Given the description of an element on the screen output the (x, y) to click on. 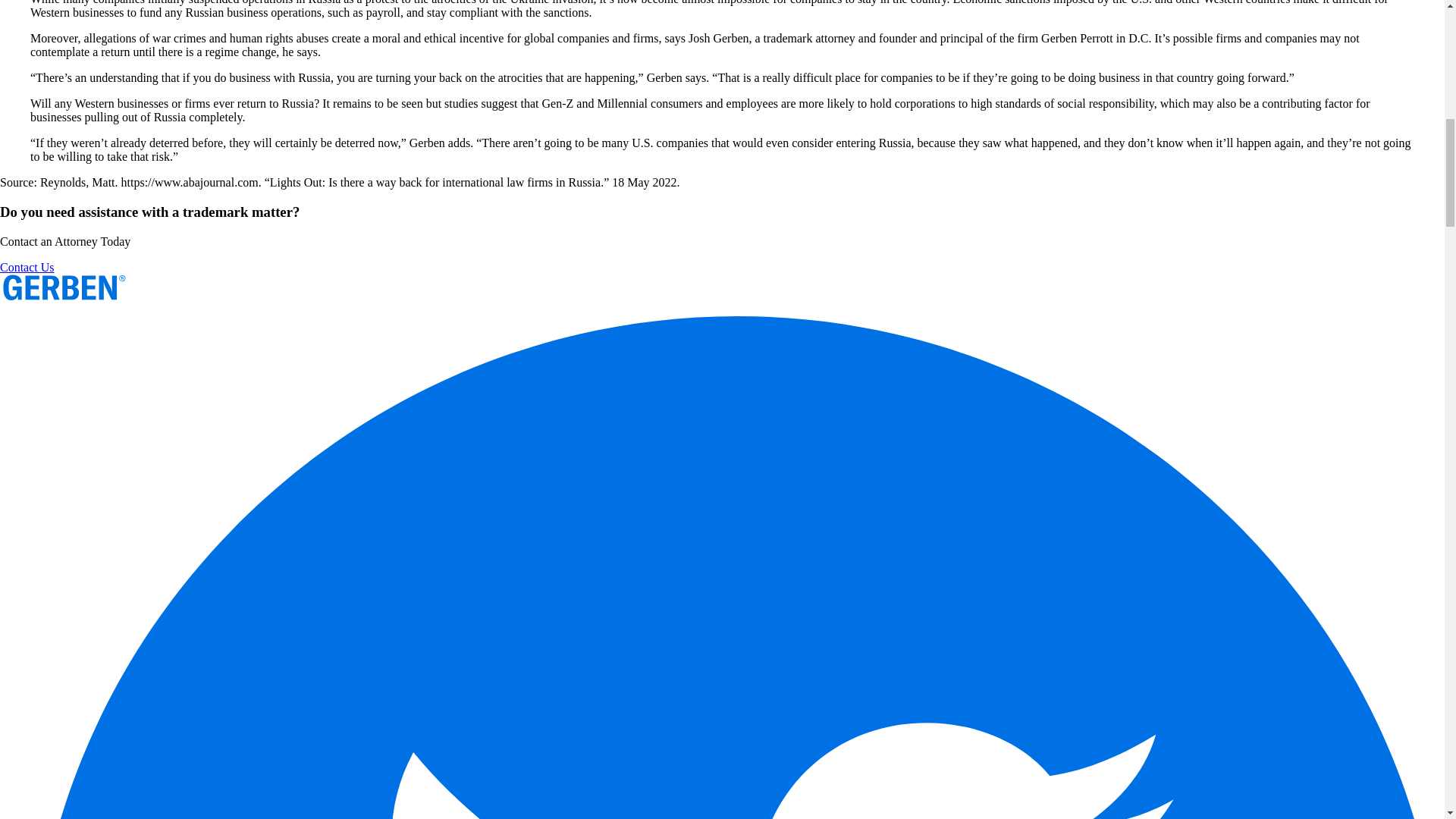
Contact Us (27, 267)
Gerben IP (64, 296)
